Given the description of an element on the screen output the (x, y) to click on. 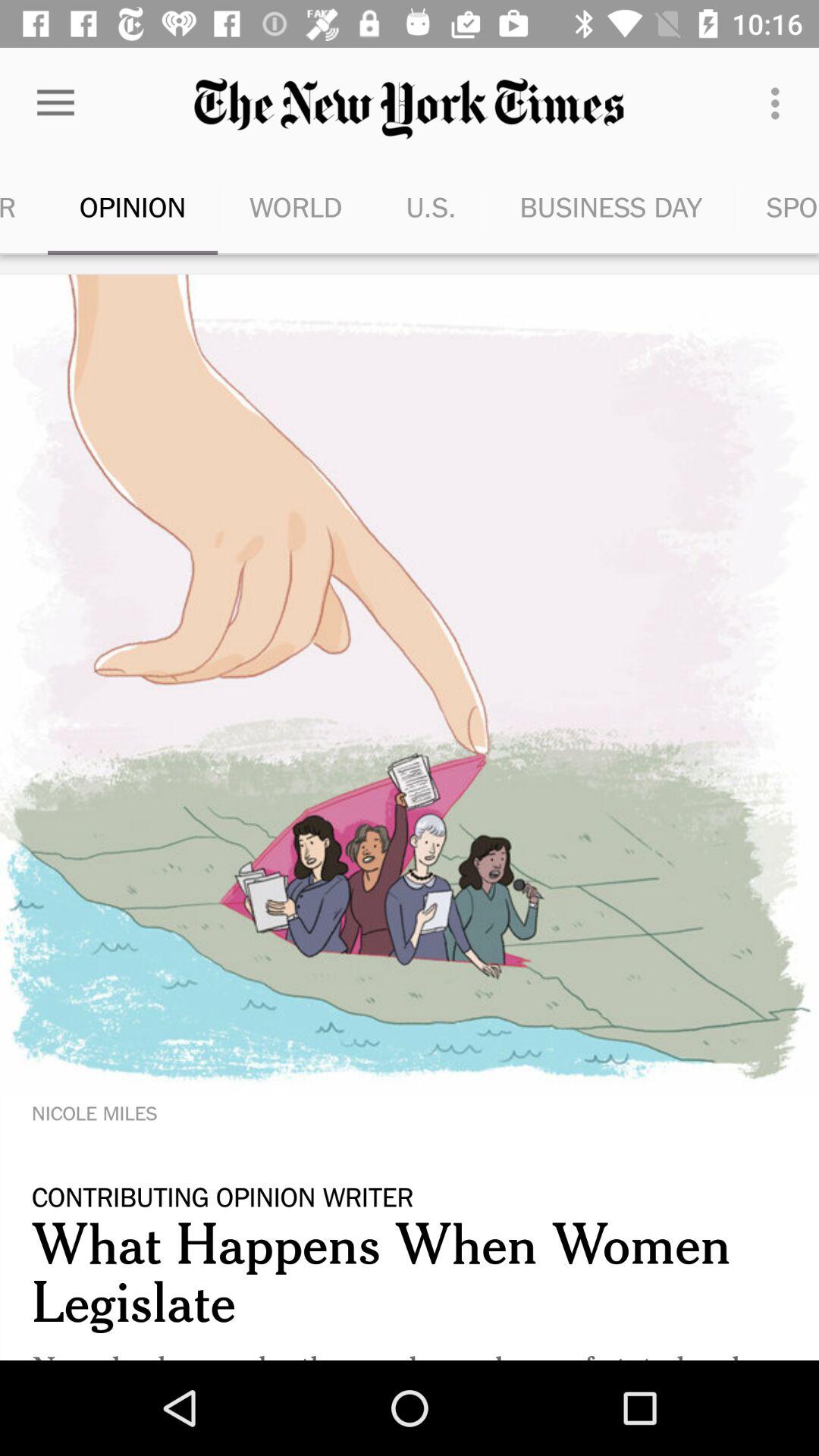
tap the icon next to the opinion icon (23, 206)
